Given the description of an element on the screen output the (x, y) to click on. 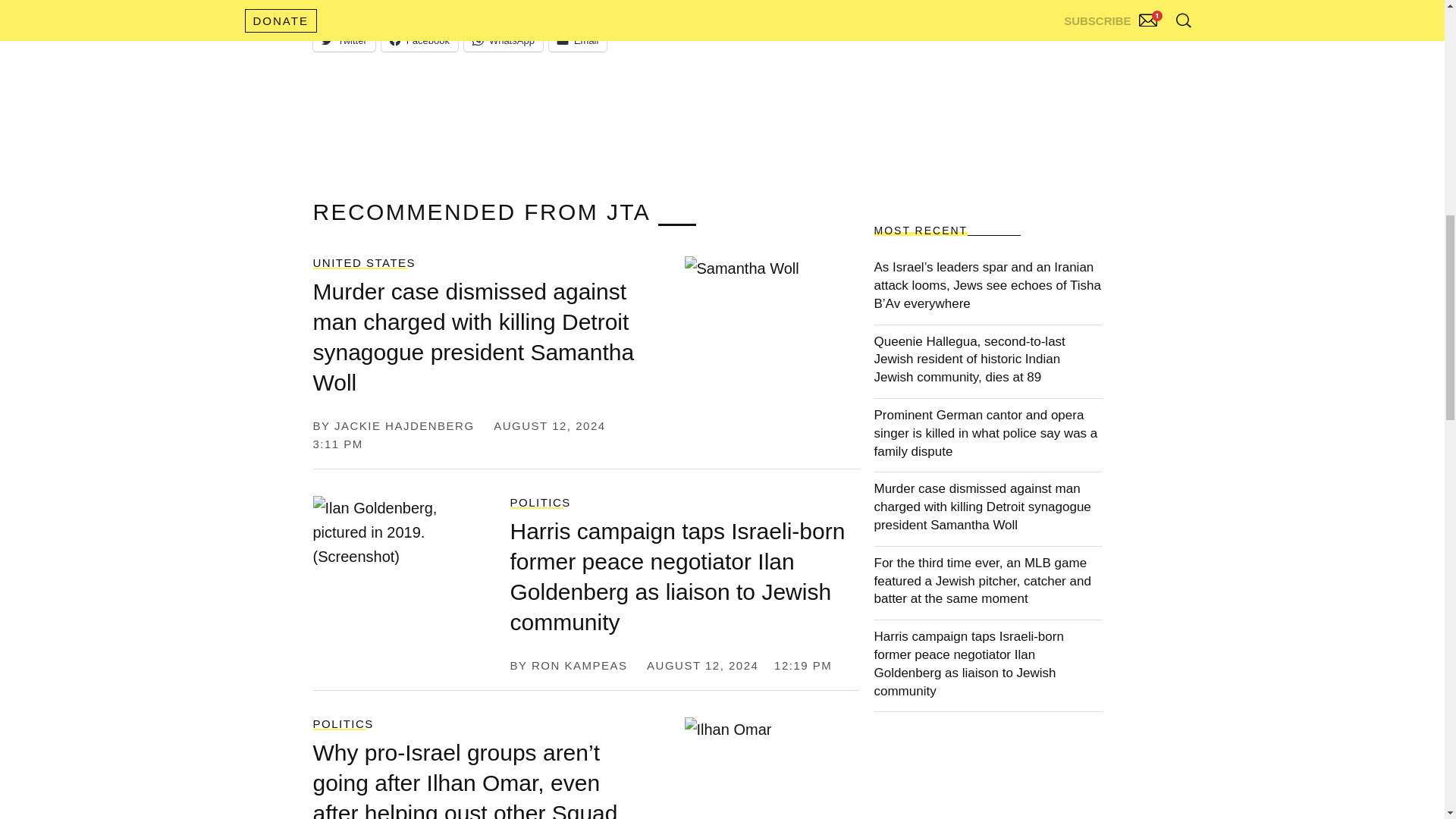
Click to share on Facebook (419, 39)
Click to share on WhatsApp (503, 39)
Click to share on Twitter (343, 39)
Click to email a link to a friend (577, 39)
